Given the description of an element on the screen output the (x, y) to click on. 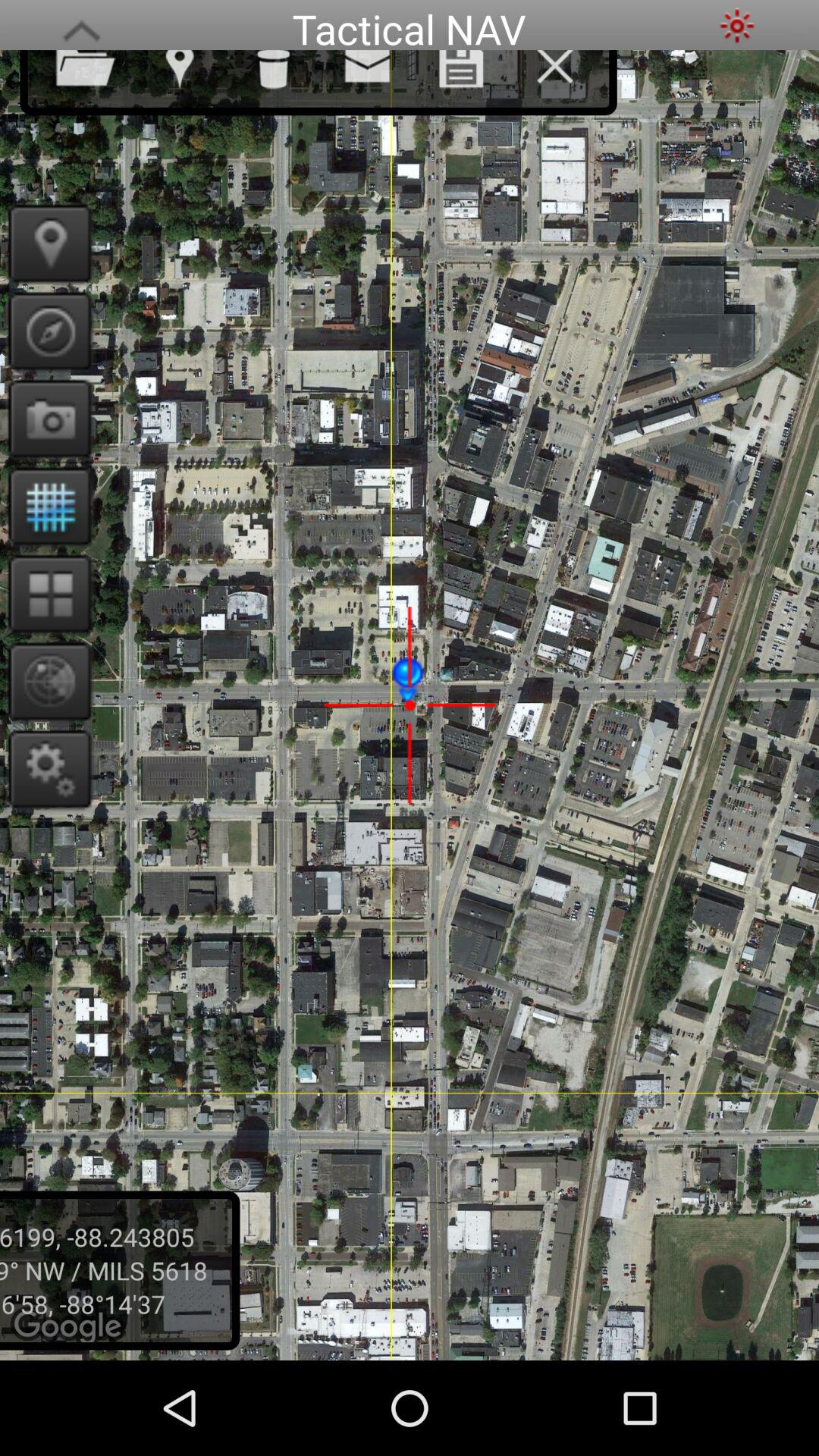
dark theme option (737, 25)
